Given the description of an element on the screen output the (x, y) to click on. 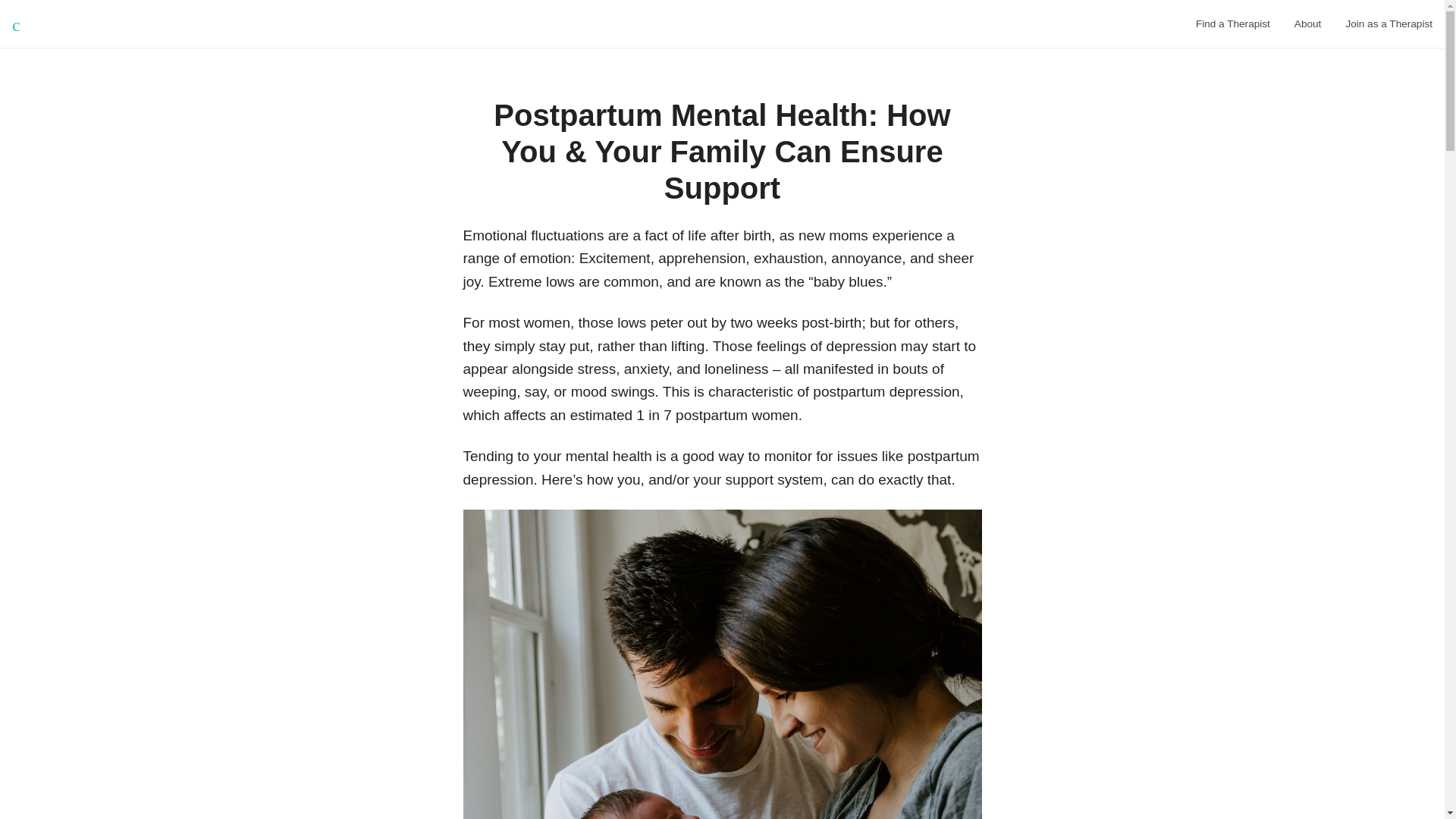
Find a Therapist (1232, 24)
About (1307, 24)
